Given the description of an element on the screen output the (x, y) to click on. 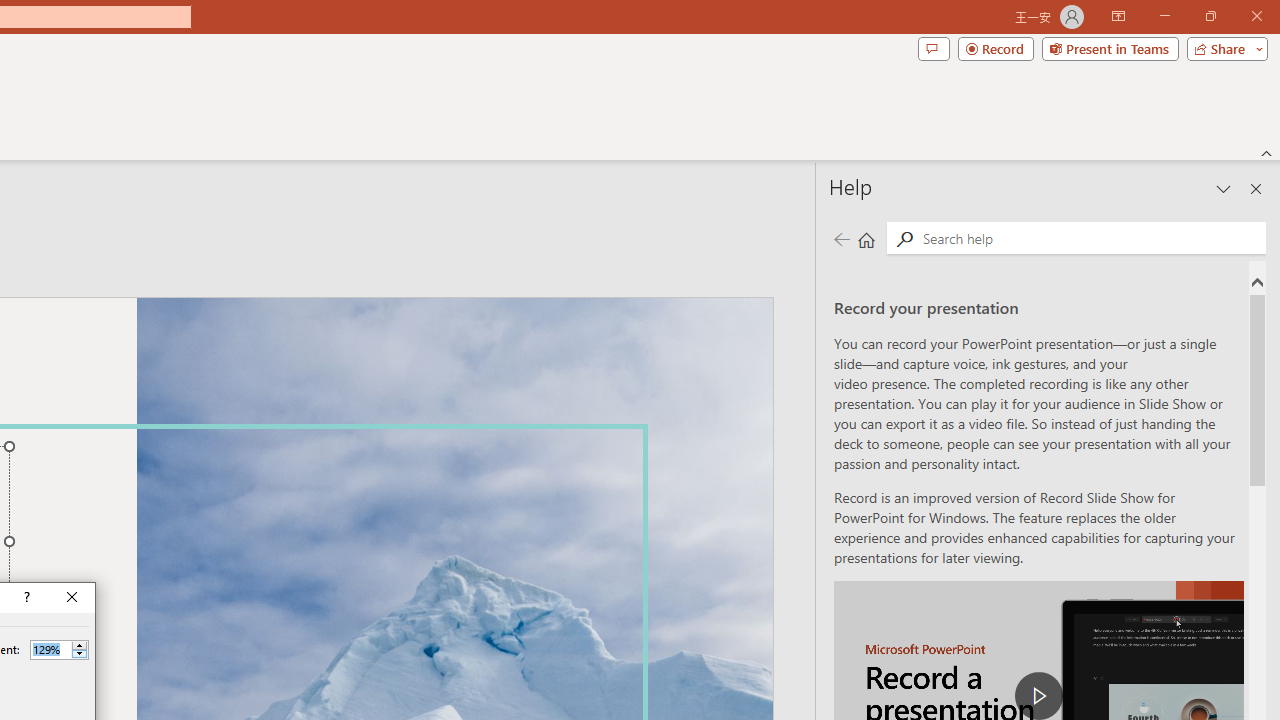
Context help (25, 597)
